Given the description of an element on the screen output the (x, y) to click on. 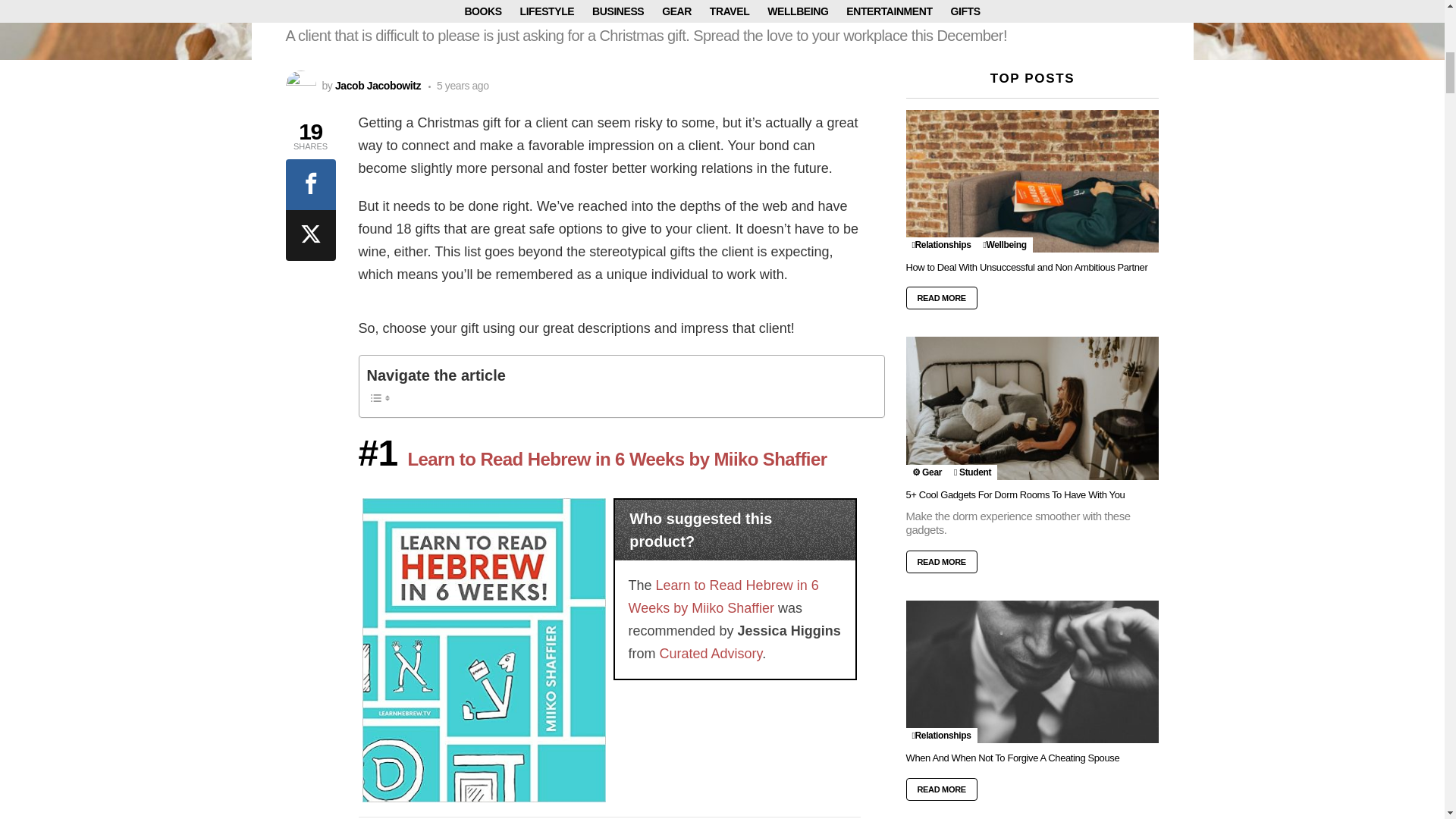
Posts by Jacob Jacobowitz (377, 85)
December 21, 2019, 12:19 am (458, 85)
Jacob Jacobowitz (377, 85)
